Given the description of an element on the screen output the (x, y) to click on. 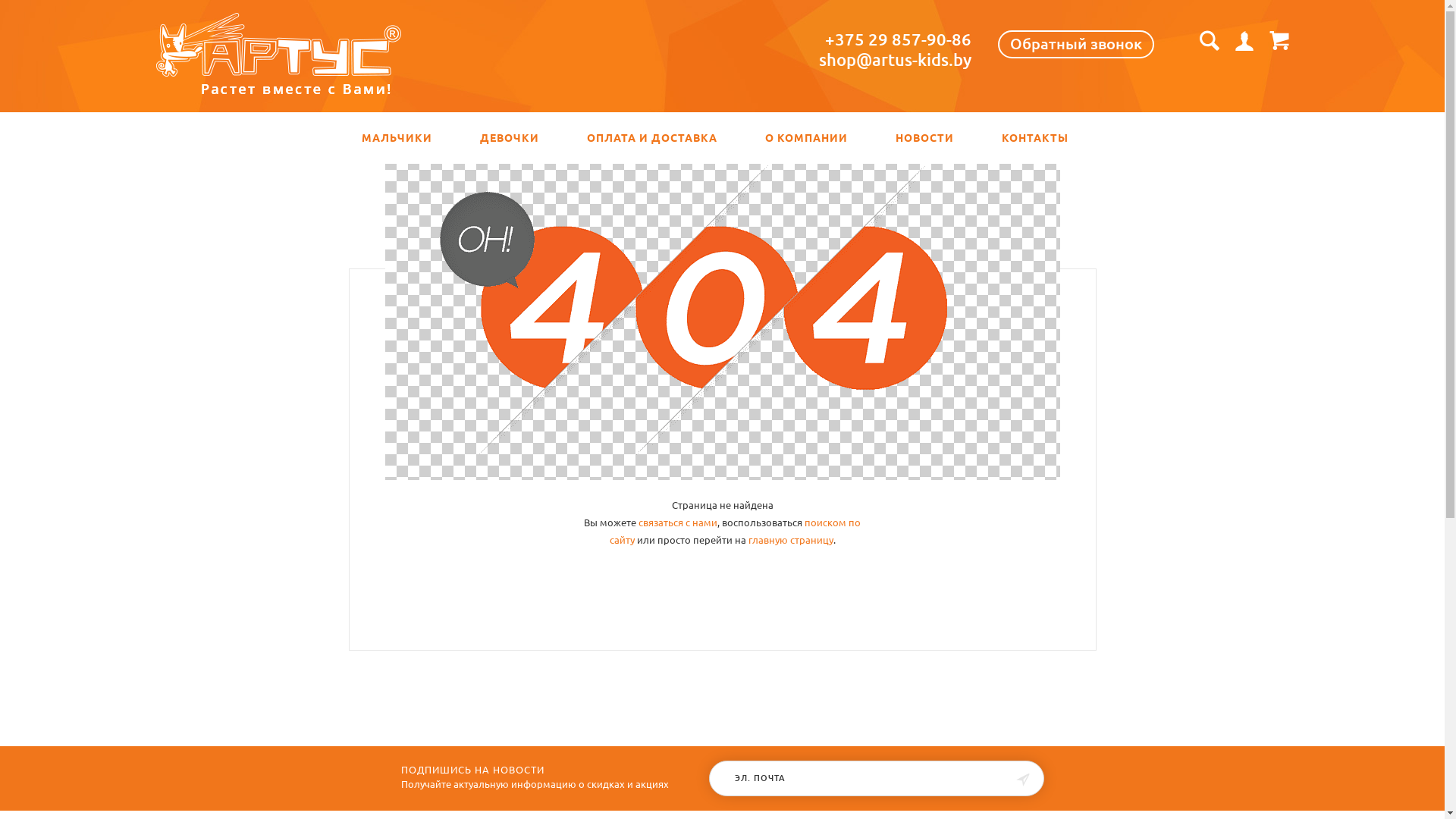
shop@artus-kids.by Element type: text (895, 59)
+375 29 857-90-86 Element type: text (898, 38)
